Given the description of an element on the screen output the (x, y) to click on. 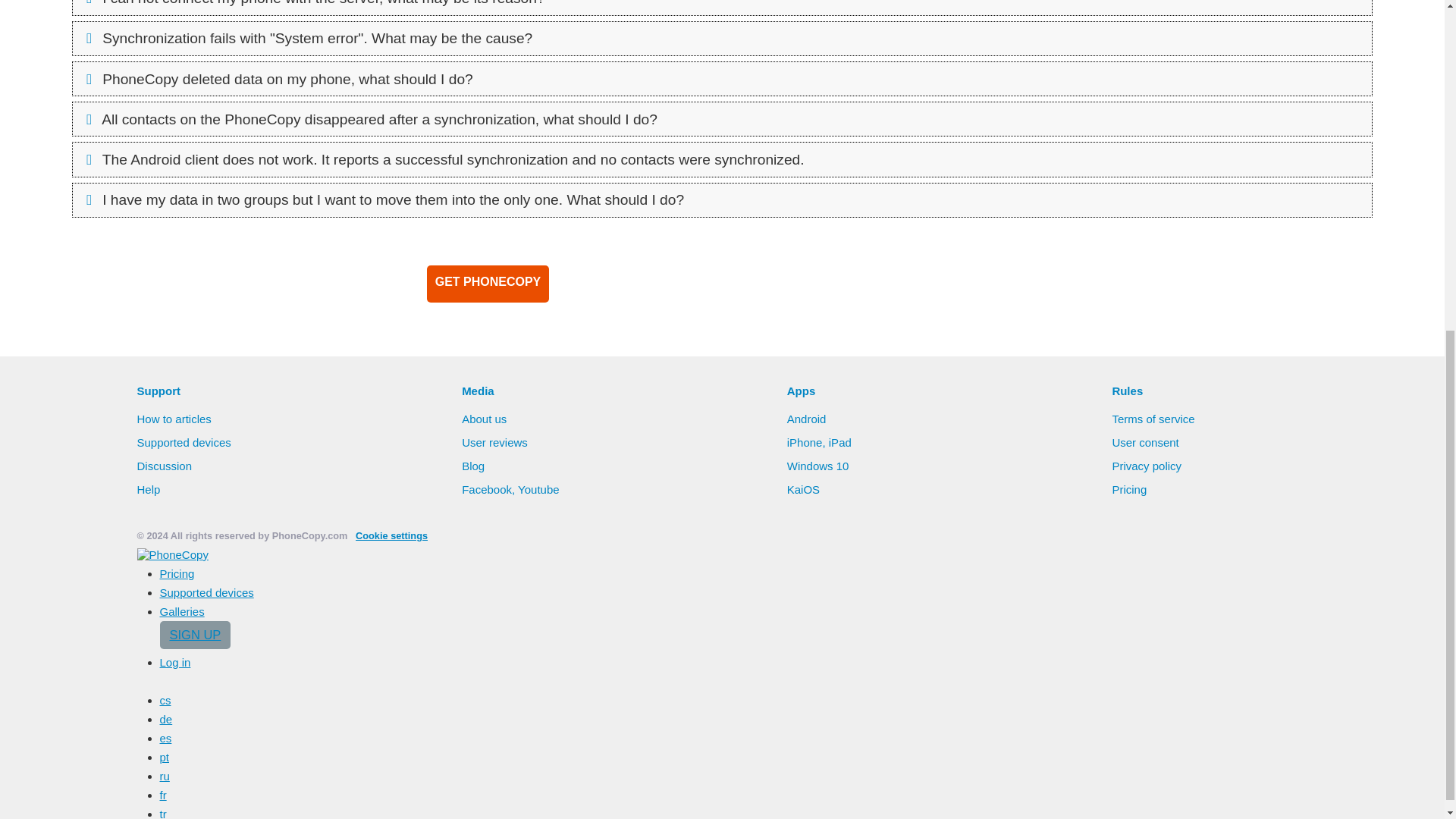
GET PHONECOPY (487, 283)
Download from Windows Store (956, 283)
How to articles (173, 418)
Available on Apple App store (800, 283)
Android app on Google Play (644, 283)
